Given the description of an element on the screen output the (x, y) to click on. 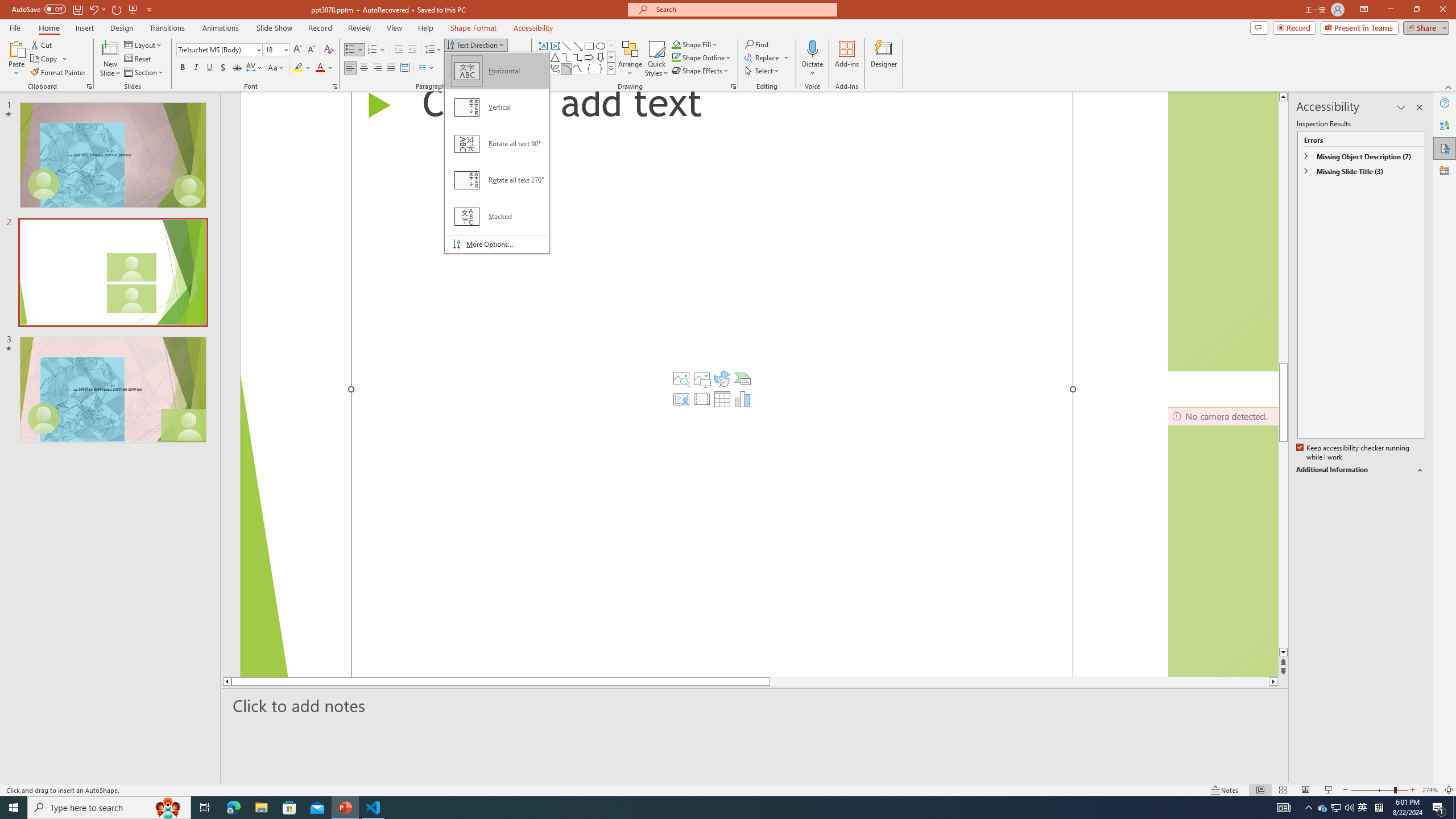
Pictures (701, 378)
Insert an Icon (721, 378)
Additional Information (1360, 469)
